Given the description of an element on the screen output the (x, y) to click on. 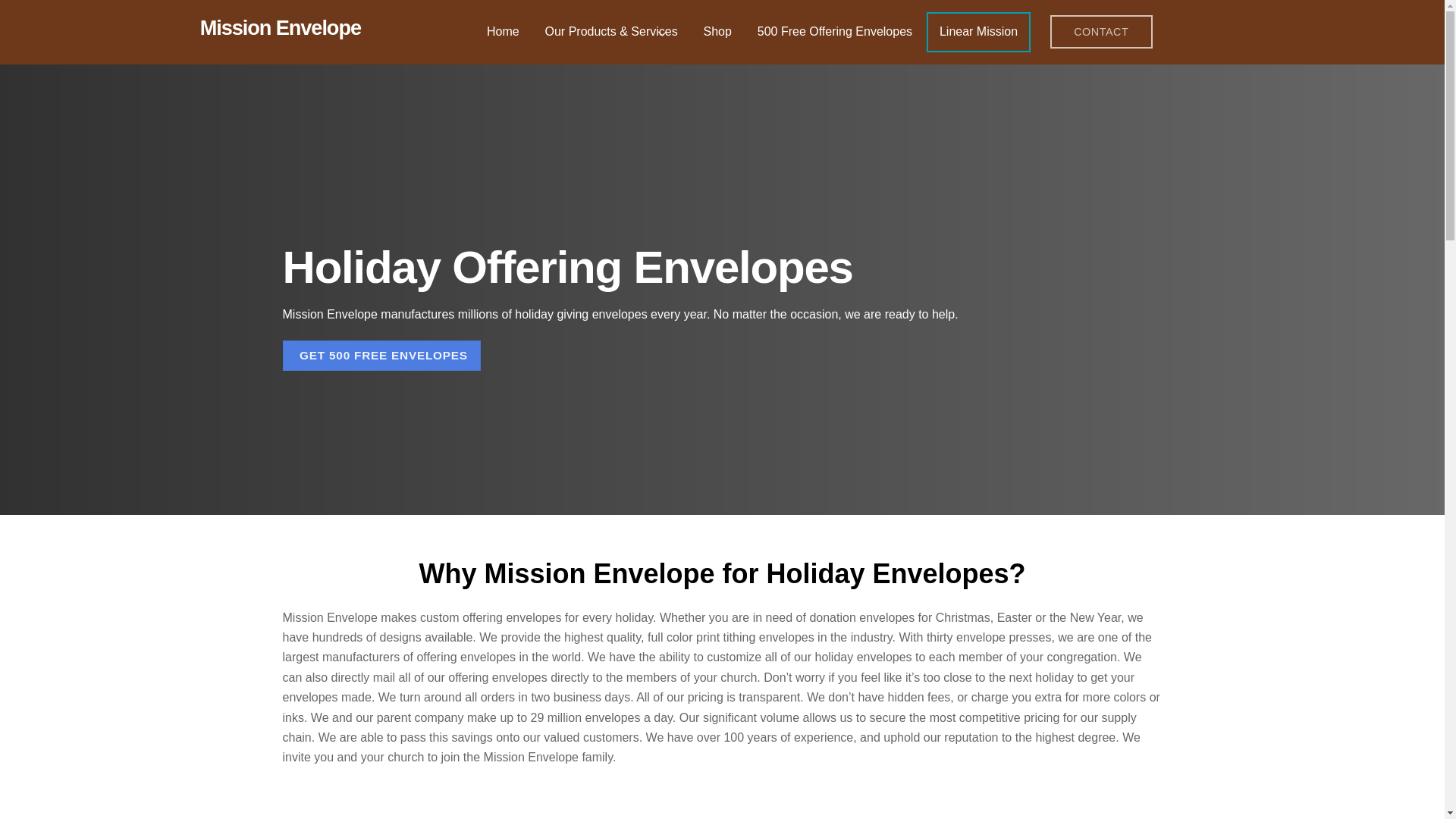
GET 500 FREE ENVELOPES (381, 355)
CONTACT (1101, 31)
Mission Envelope (280, 27)
Linear Mission (978, 31)
Home (502, 31)
Mission Envelope (280, 27)
500 Free Offering Envelopes (834, 31)
Shop (717, 31)
